Given the description of an element on the screen output the (x, y) to click on. 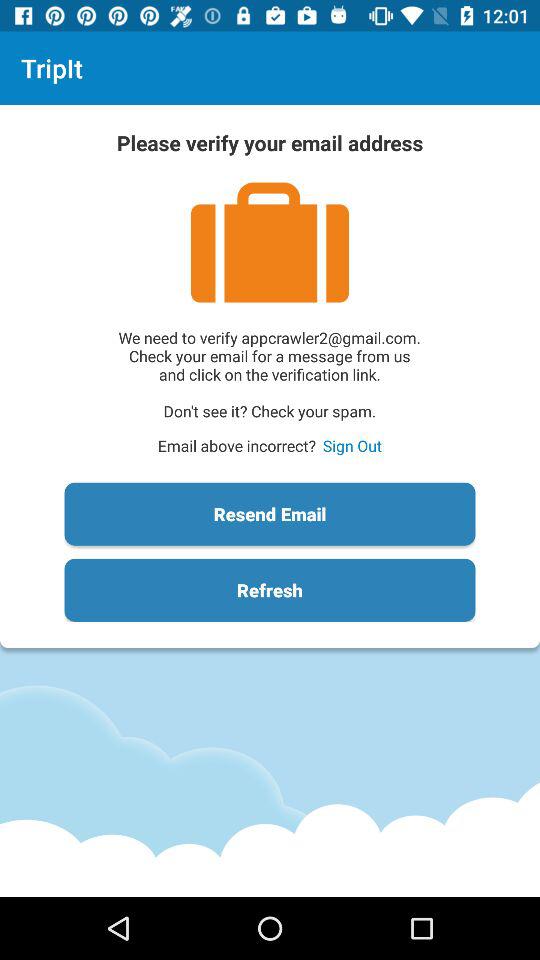
open icon below we need to icon (352, 445)
